Given the description of an element on the screen output the (x, y) to click on. 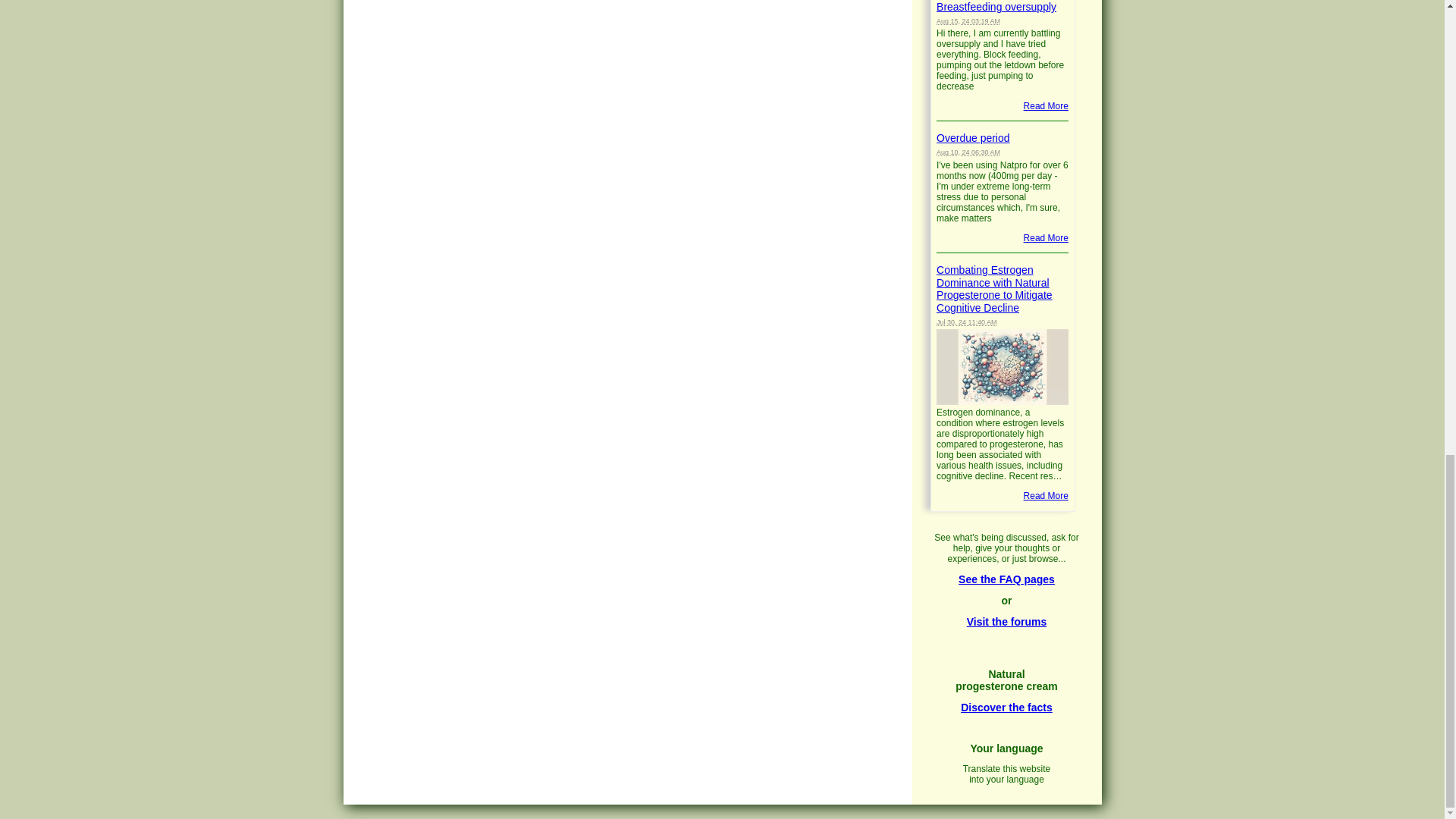
2024-07-30T11:40:51-0400 (966, 321)
2024-08-10T06:30:31-0400 (968, 152)
2024-08-15T03:19:20-0400 (968, 21)
